Given the description of an element on the screen output the (x, y) to click on. 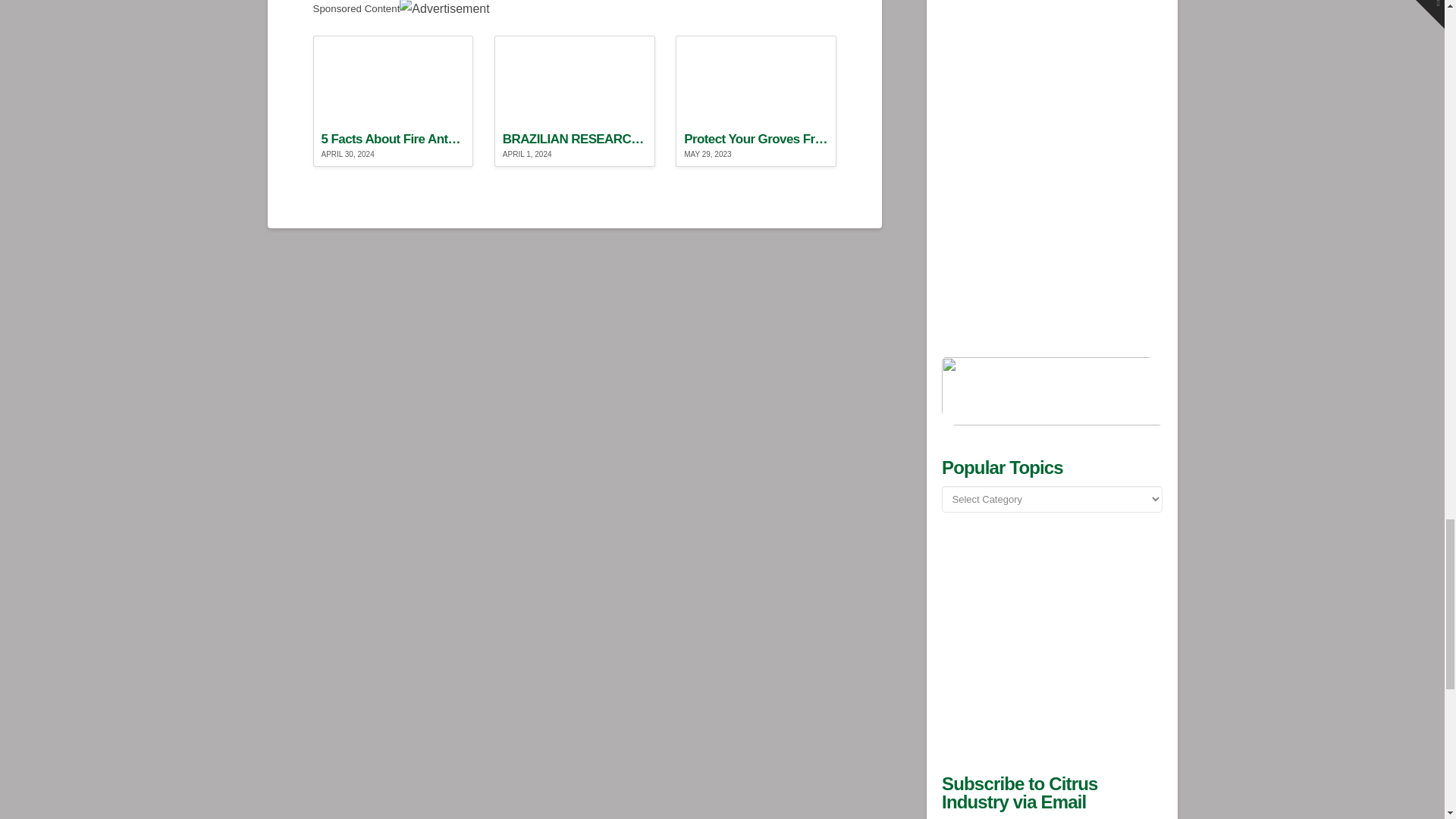
Permalink to: "Protect Your Groves From Citrus Leafminer" (755, 101)
